Given the description of an element on the screen output the (x, y) to click on. 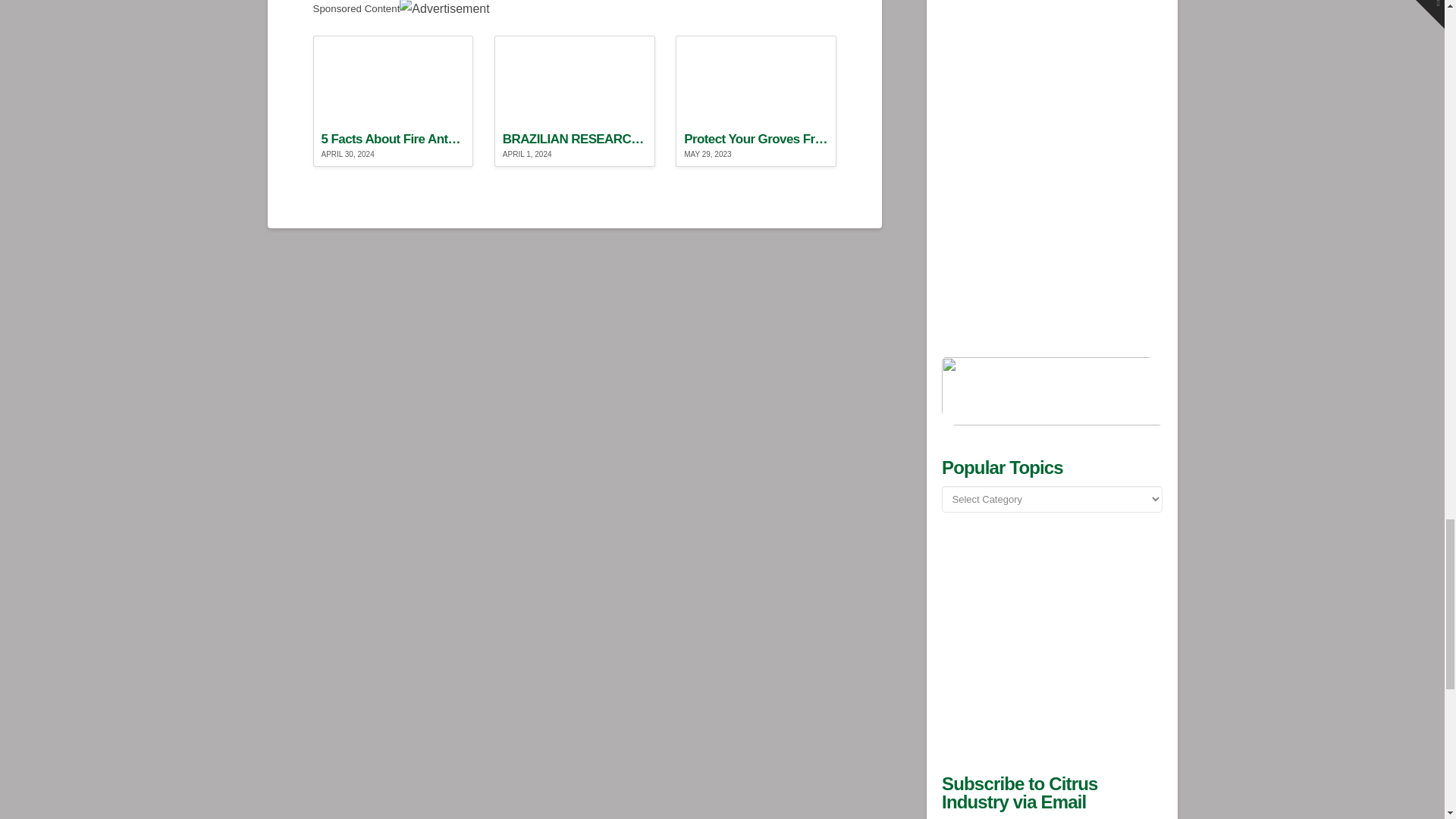
Permalink to: "Protect Your Groves From Citrus Leafminer" (755, 101)
